Given the description of an element on the screen output the (x, y) to click on. 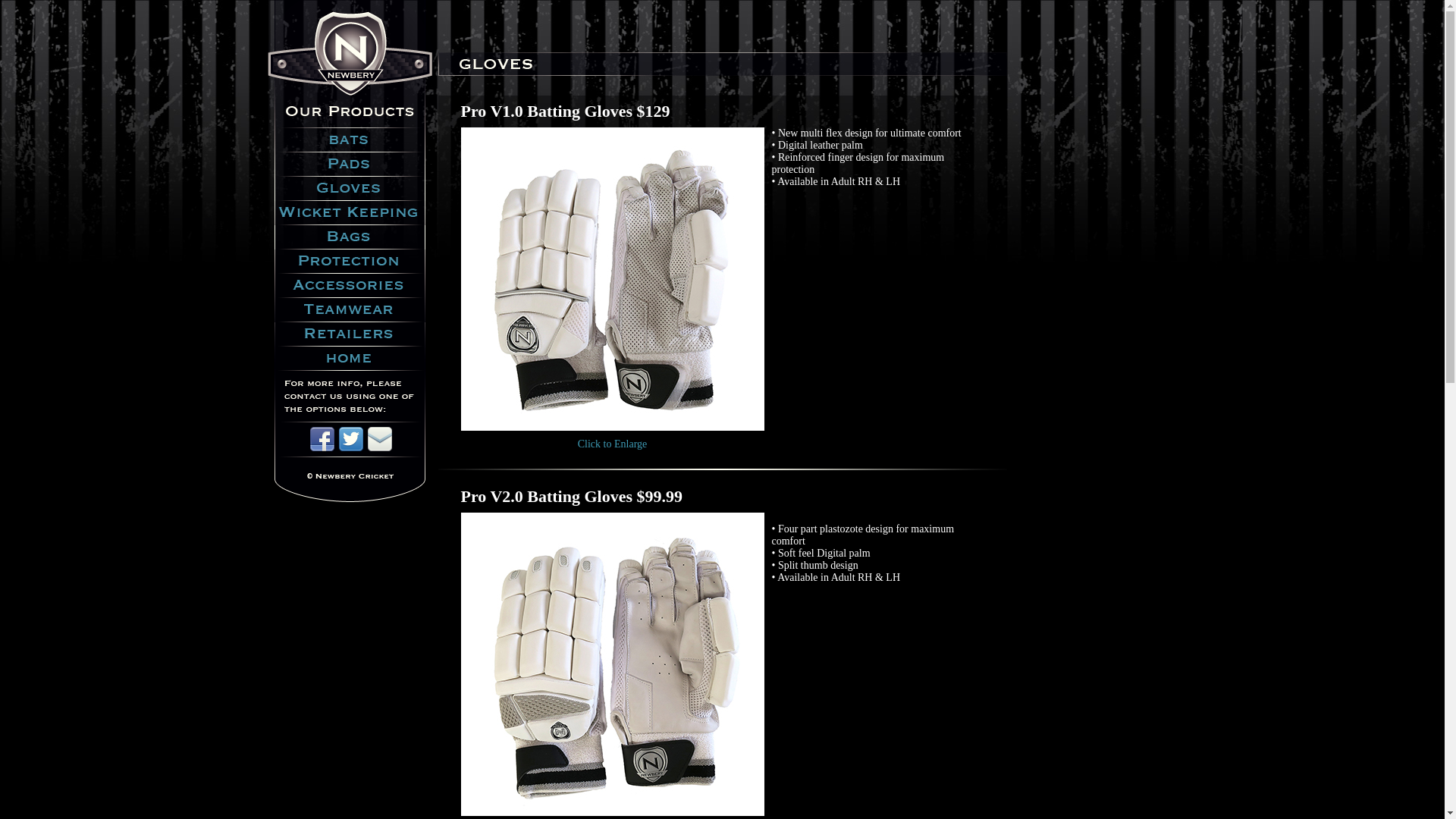
Click to Enlarge Element type: text (612, 443)
